Given the description of an element on the screen output the (x, y) to click on. 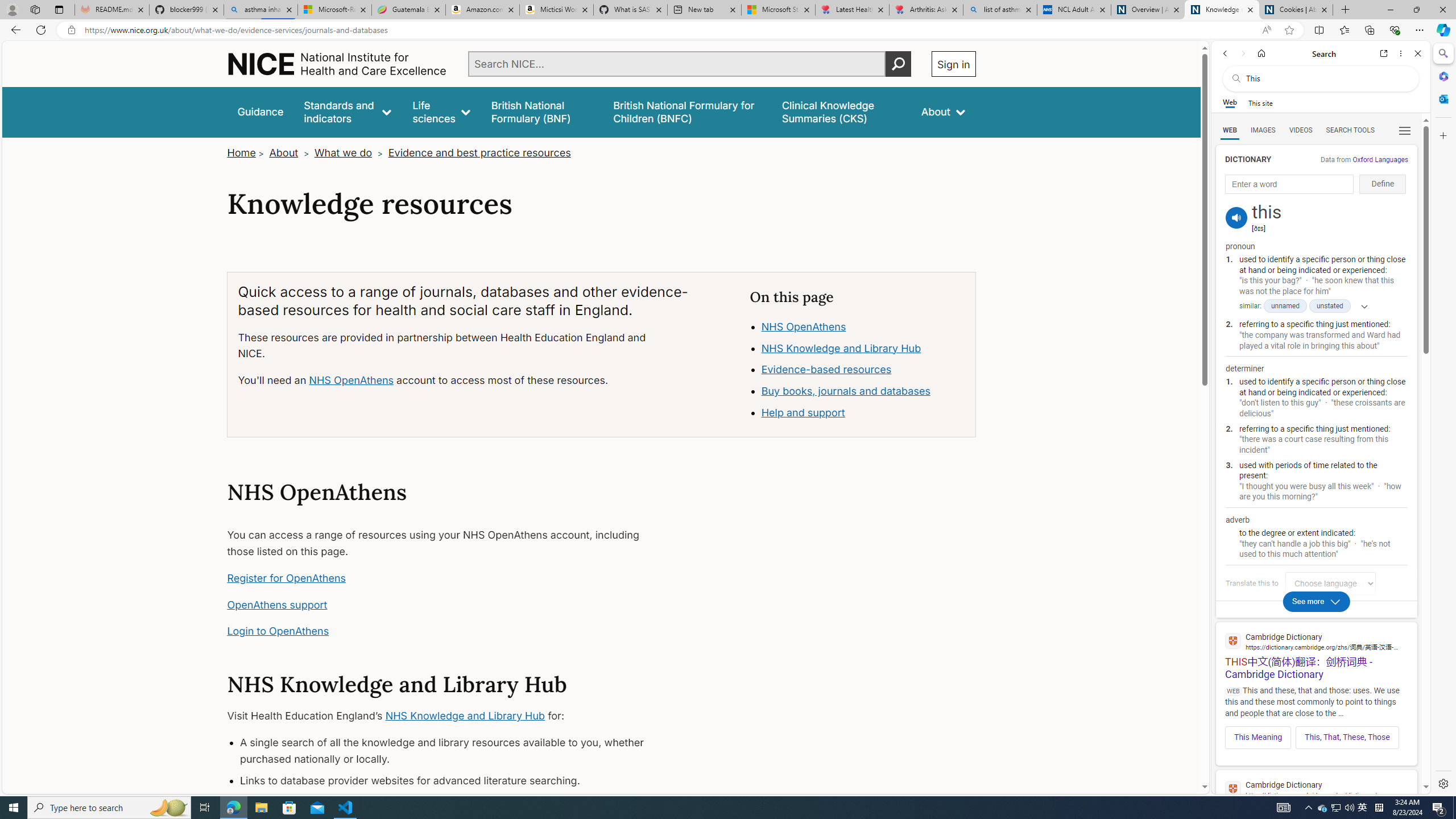
Evidence-based resources (863, 369)
This Meaning (1258, 737)
Login to OpenAthens (278, 630)
Help and support (802, 413)
